Given the description of an element on the screen output the (x, y) to click on. 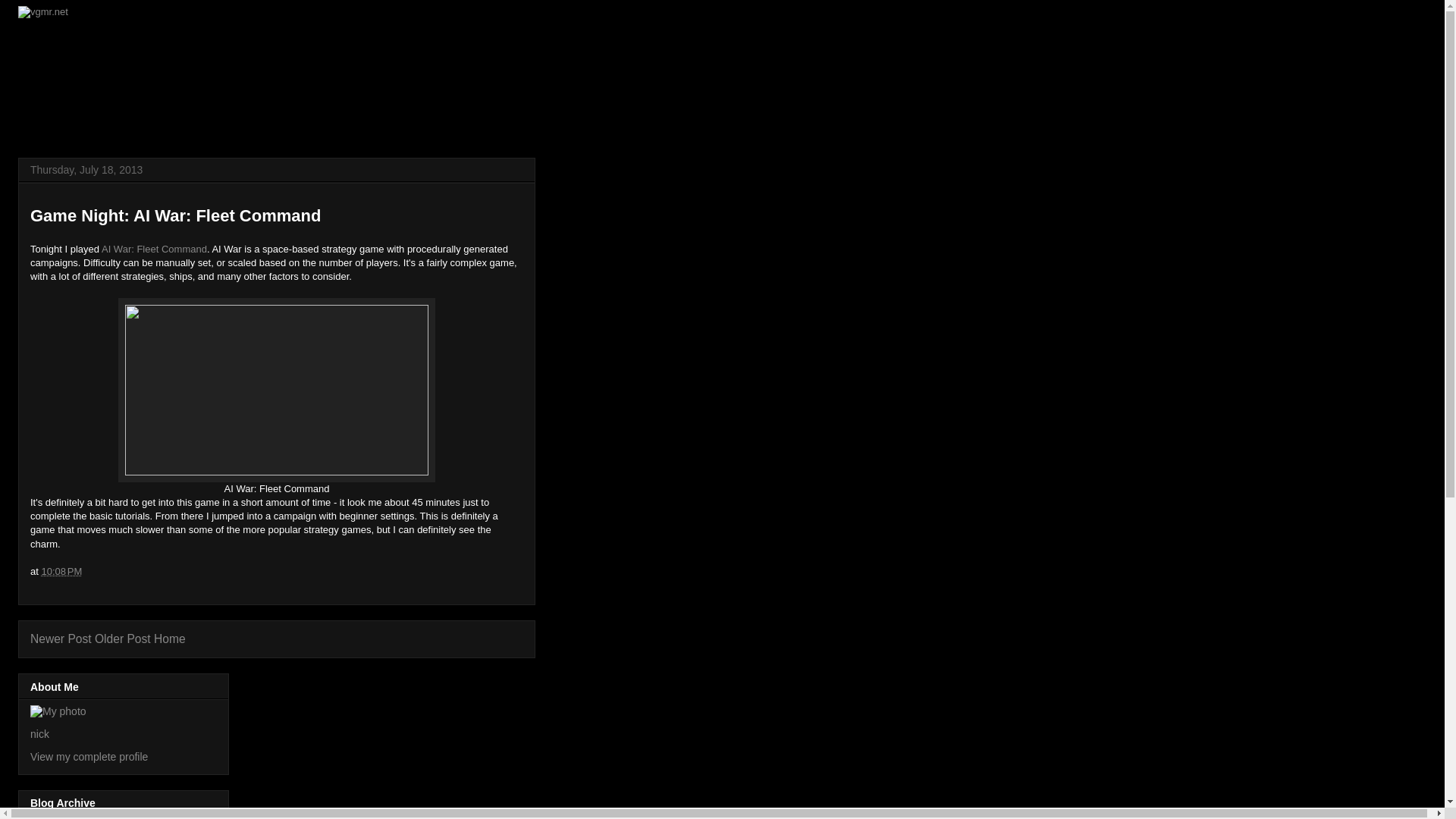
Older Post (122, 638)
nick (39, 734)
Newer Post (60, 638)
Home (170, 638)
2014 (60, 818)
permanent link (60, 571)
View my complete profile (89, 756)
AI War: Fleet Command (153, 248)
Newer Post (60, 638)
Older Post (122, 638)
